Given the description of an element on the screen output the (x, y) to click on. 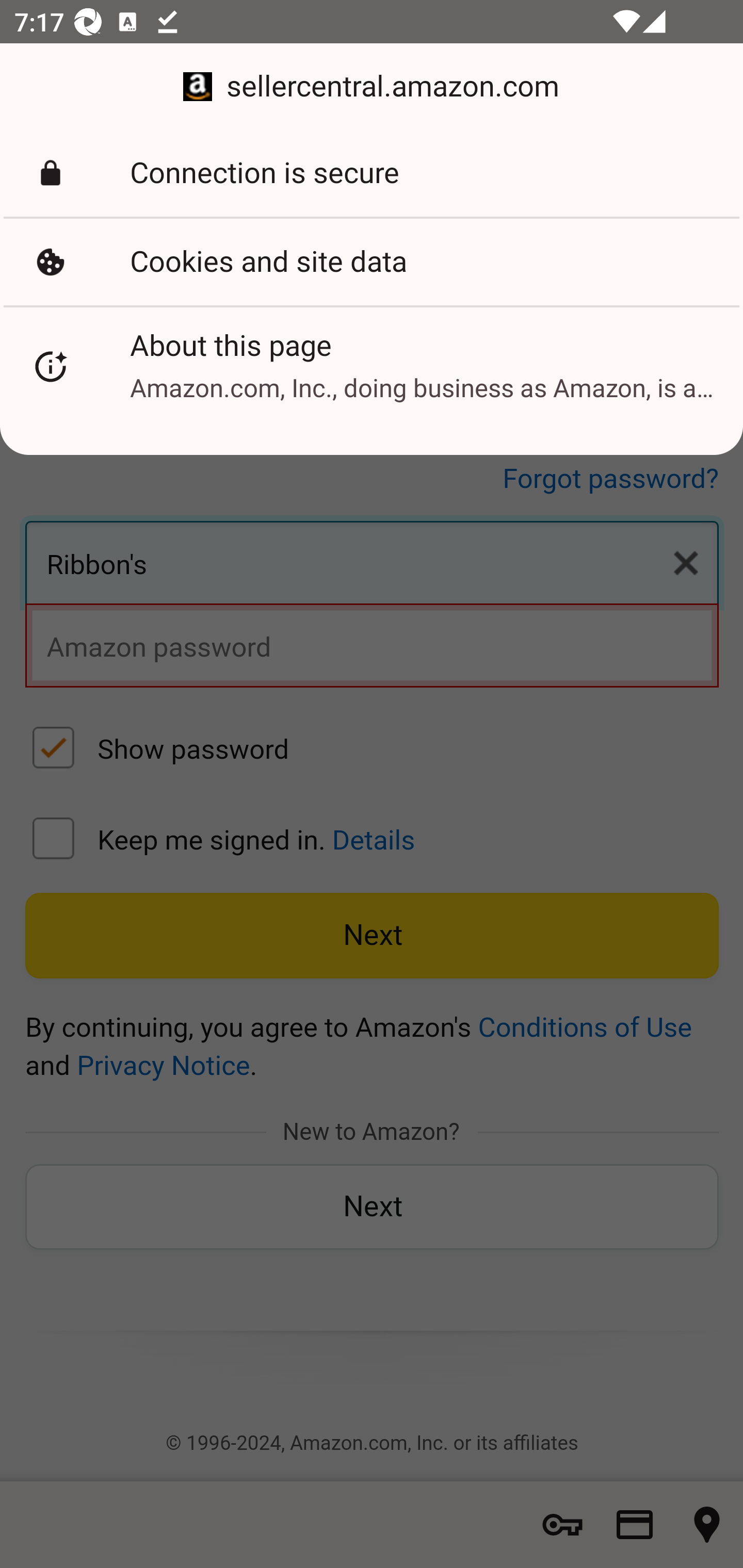
sellercentral.amazon.com (371, 86)
Connection is secure (371, 173)
Cookies and site data (371, 261)
